Given the description of an element on the screen output the (x, y) to click on. 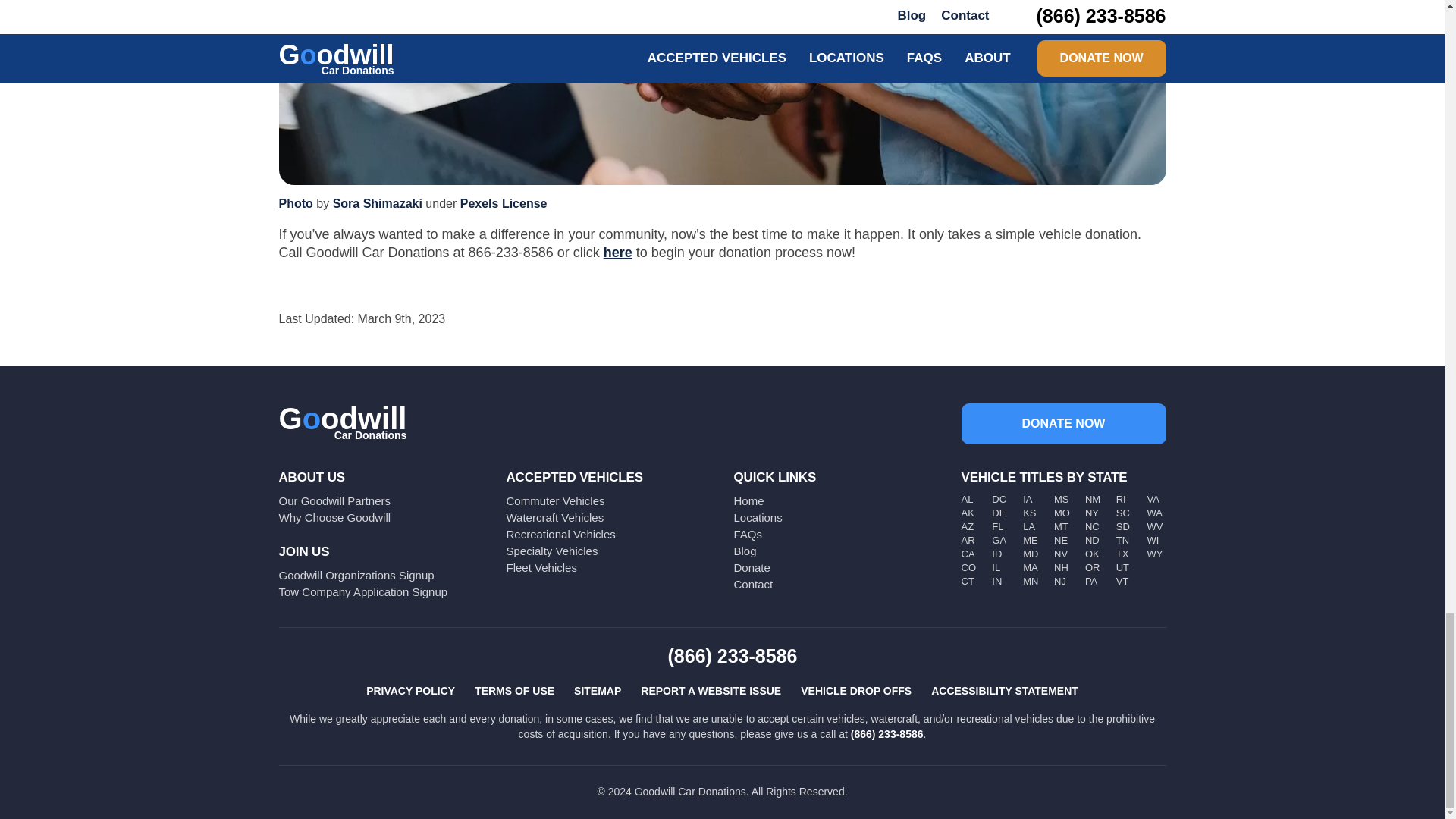
Why Choose Goodwill (335, 517)
Fleet Vehicles (541, 567)
Recreational Vehicles (560, 533)
Our Goodwill Partners (335, 500)
Specialty Vehicles (552, 550)
ABOUT US (312, 477)
Watercraft Vehicles (555, 517)
Tow Company Application Signup (363, 591)
Commuter Vehicles (555, 500)
DONATE NOW (1063, 423)
